Given the description of an element on the screen output the (x, y) to click on. 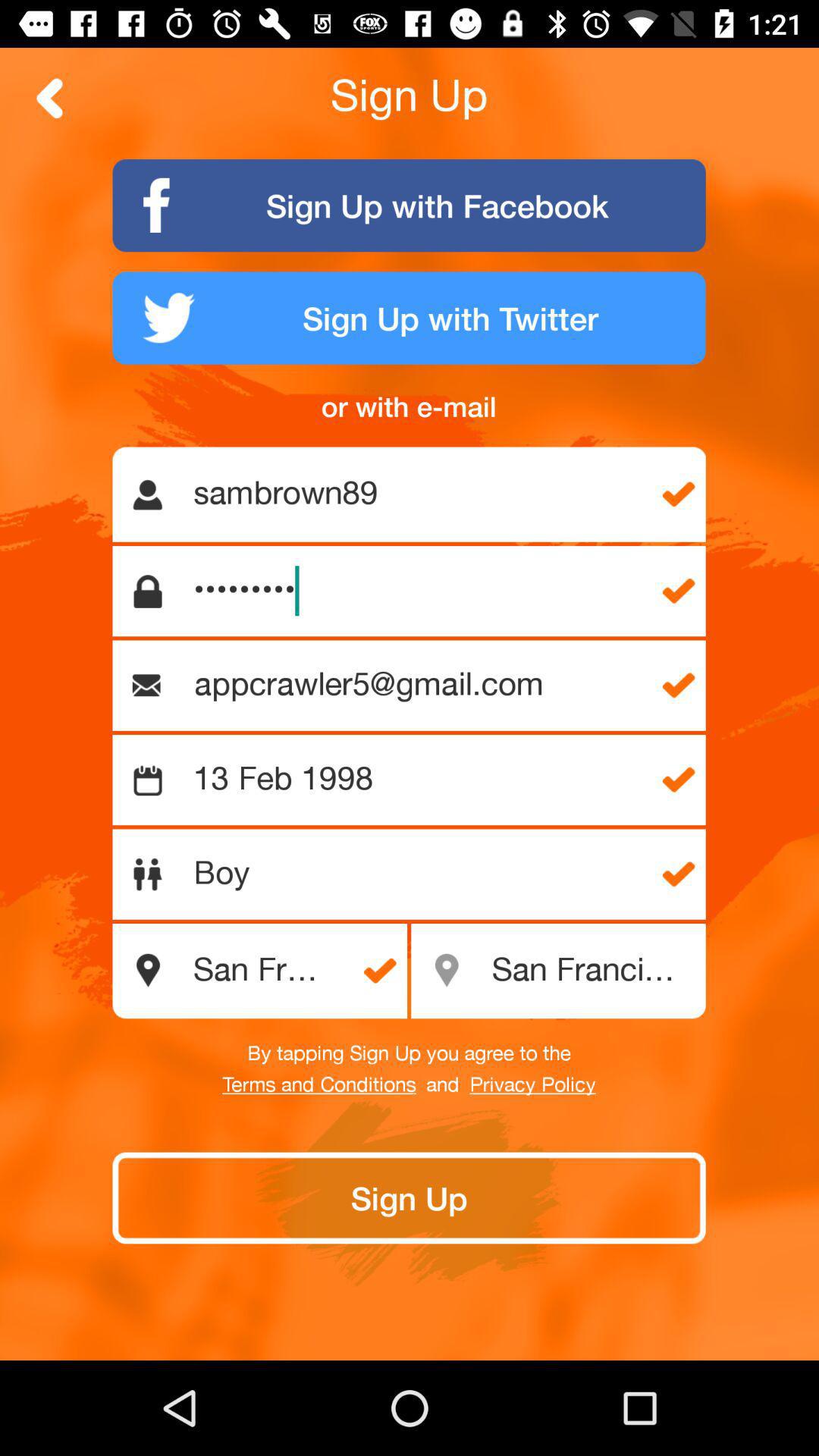
go back (50, 98)
